Given the description of an element on the screen output the (x, y) to click on. 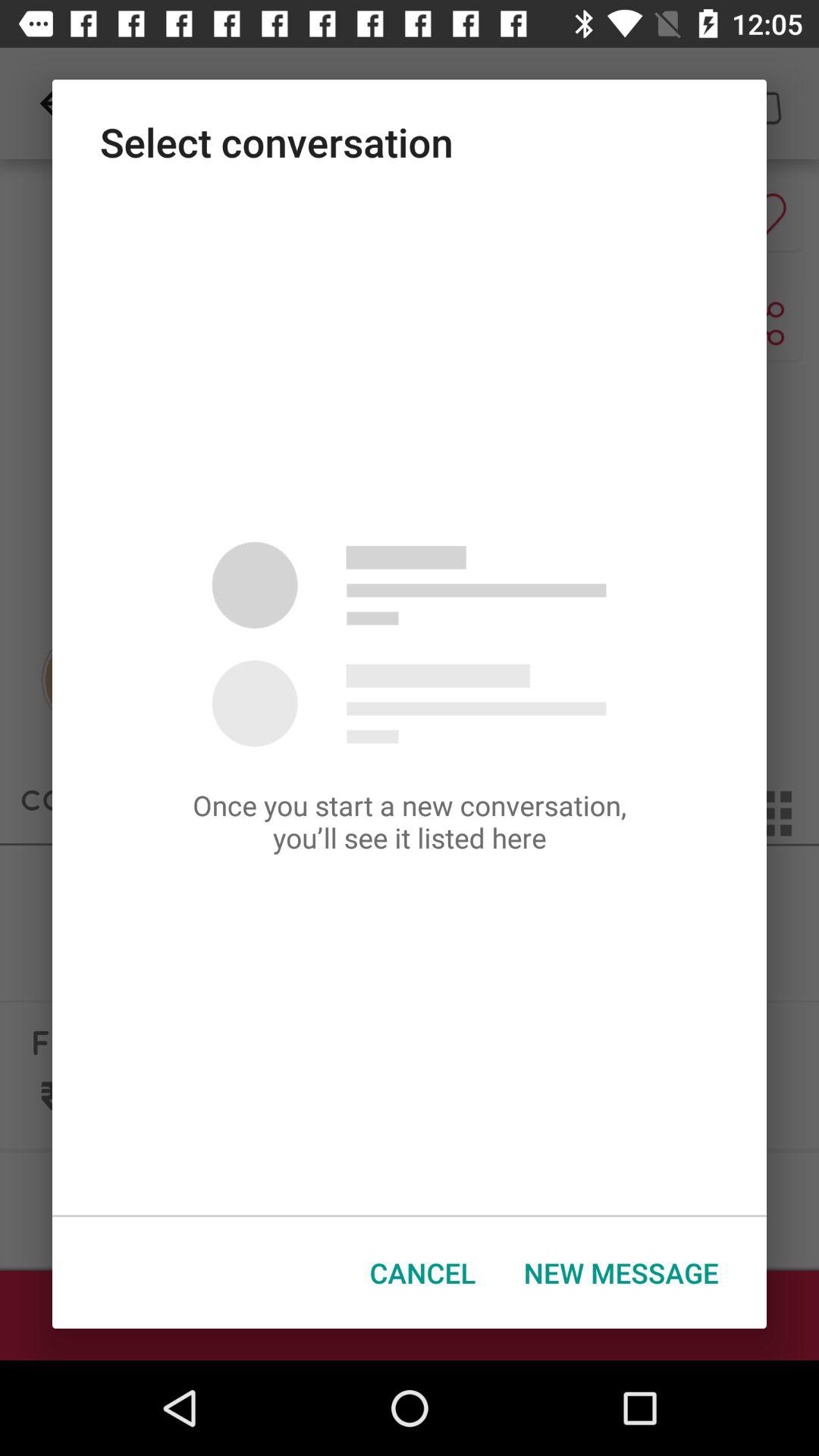
open the new message at the bottom right corner (620, 1272)
